Given the description of an element on the screen output the (x, y) to click on. 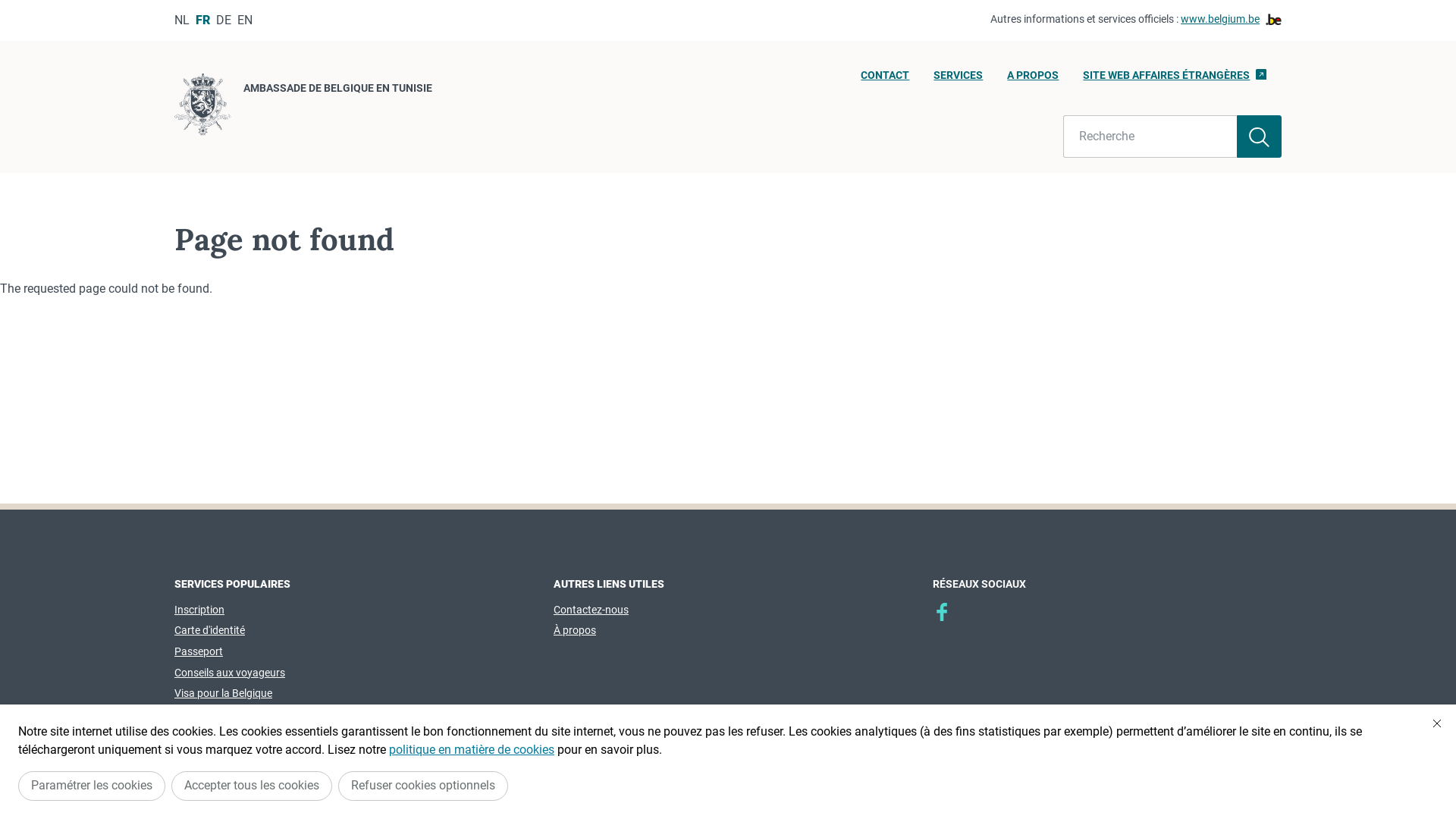
Facebook Element type: text (941, 611)
Contactez-nous Element type: text (590, 609)
SERVICES Element type: text (957, 79)
Conseils aux voyageurs Element type: text (229, 672)
AMBASSADE DE BELGIQUE EN TUNISIE Element type: text (303, 106)
EN Element type: text (244, 19)
Fermer Element type: hover (1436, 723)
Filtrer Element type: text (1258, 136)
Inscription Element type: text (199, 609)
Visa pour la Belgique Element type: text (223, 693)
Skip to main content Element type: text (7, 4)
Accepter tous les cookies Element type: text (251, 785)
A PROPOS Element type: text (1032, 79)
Refuser cookies optionnels Element type: text (423, 785)
www.belgium.be Element type: text (1230, 19)
Passeport Element type: text (198, 651)
FR Element type: text (202, 19)
Recherche Element type: hover (1149, 136)
NL Element type: text (181, 19)
CONTACT Element type: text (884, 79)
DE Element type: text (223, 19)
